Given the description of an element on the screen output the (x, y) to click on. 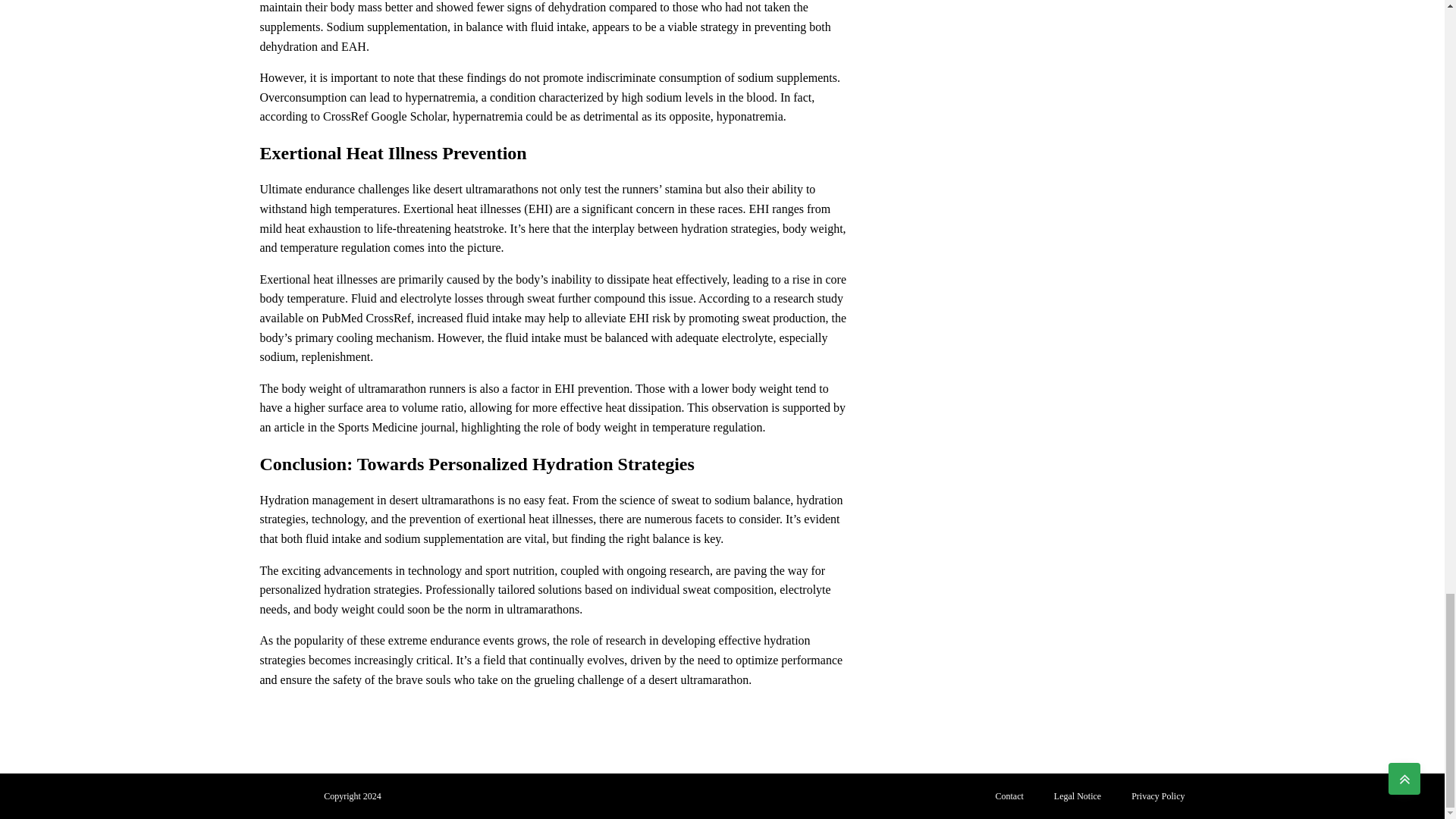
Contact (1009, 796)
Legal Notice (1077, 796)
Privacy Policy (1157, 796)
